Given the description of an element on the screen output the (x, y) to click on. 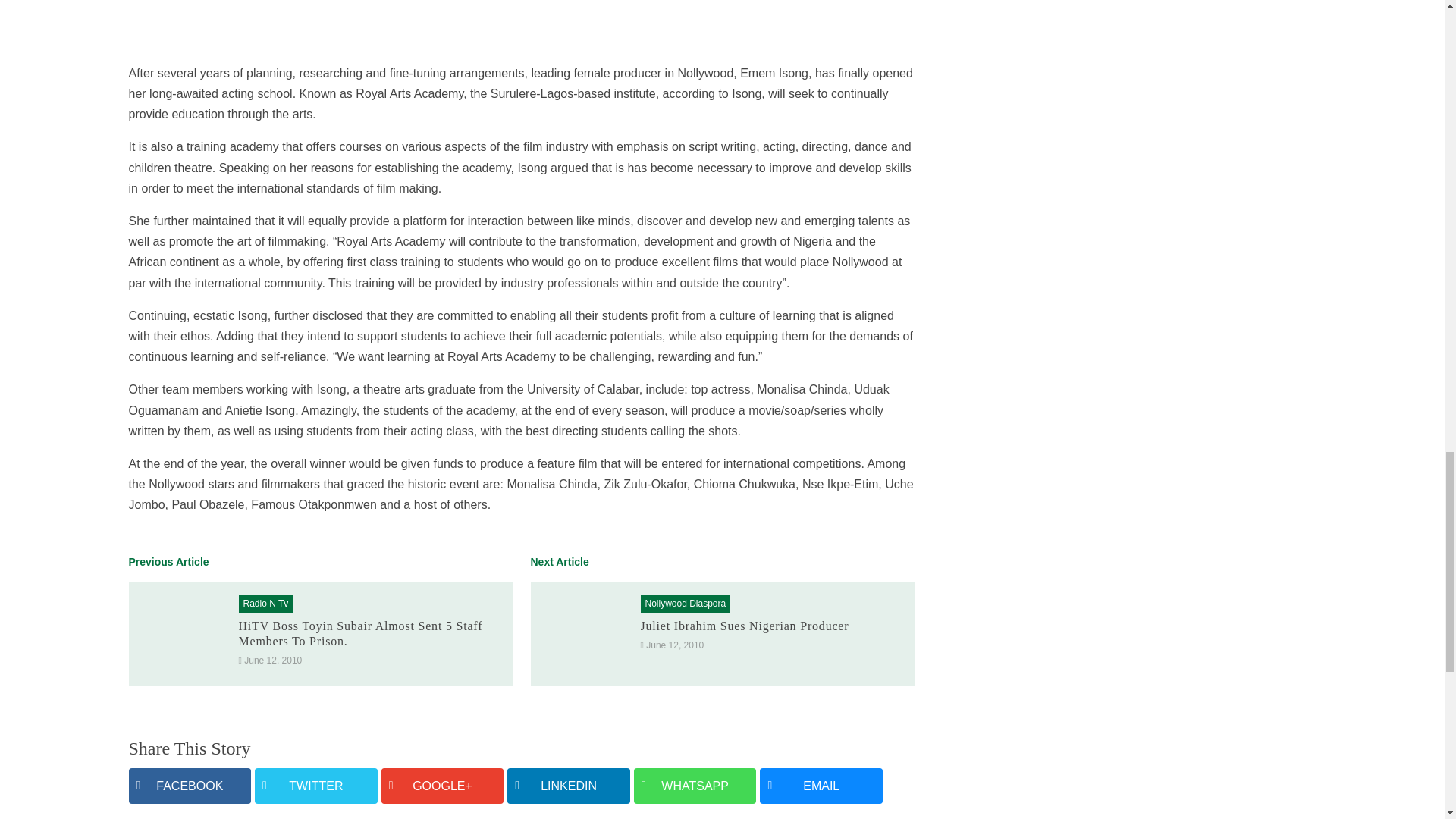
facebook (190, 785)
Radio N Tv (265, 603)
Nollywood Diaspora (685, 603)
twitter (315, 785)
googleplus (442, 785)
FACEBOOK (190, 785)
Radio N Tv (265, 603)
Nollywood Diaspora (685, 603)
Juliet Ibrahim Sues Nigerian Producer (744, 625)
TWITTER (315, 785)
Juliet Ibrahim Sues Nigerian Producer (744, 625)
whatsapp (695, 785)
